Given the description of an element on the screen output the (x, y) to click on. 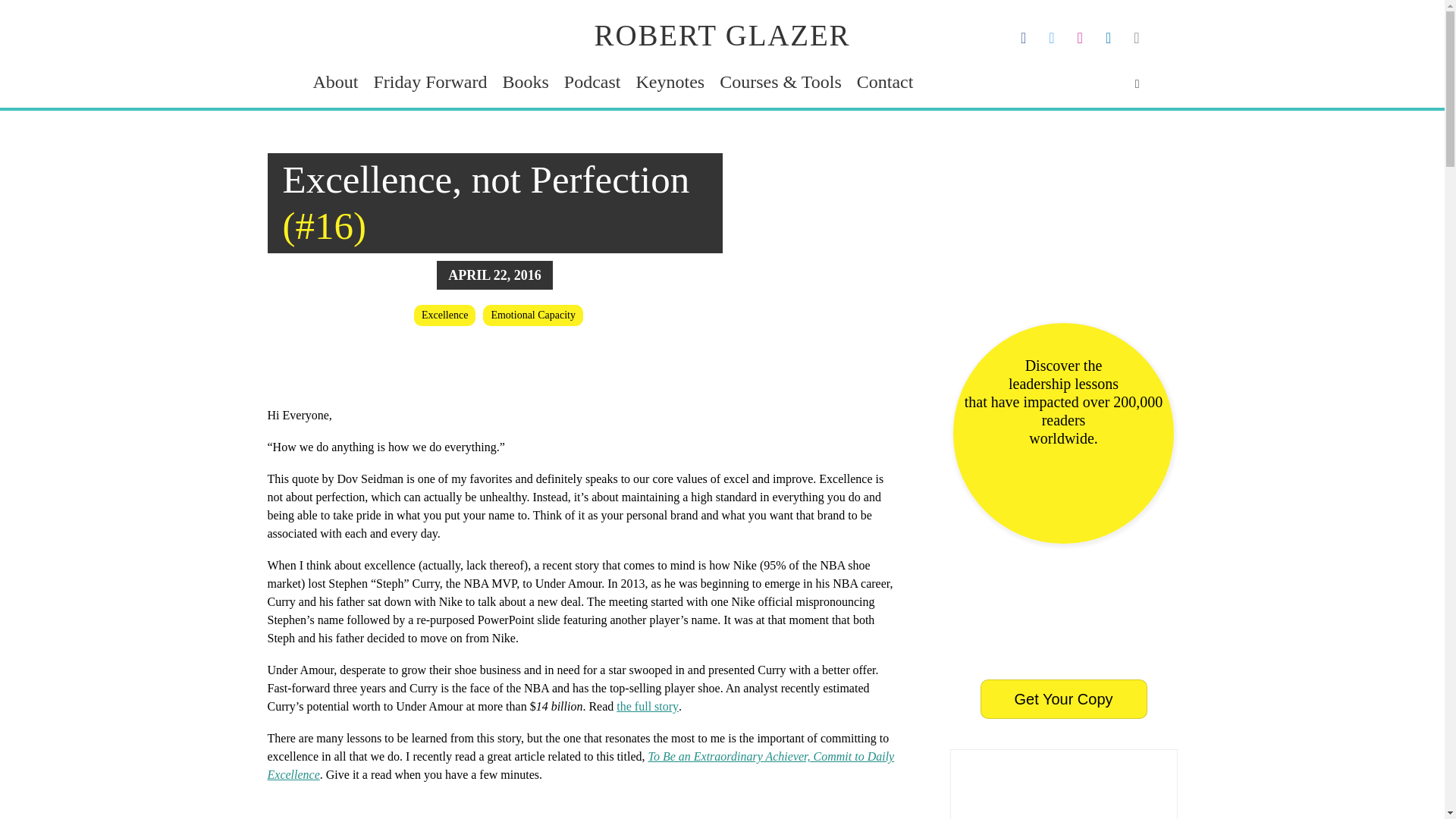
Excellence (444, 315)
Emotional Capacity (533, 315)
ROBERT GLAZER (722, 34)
Keynotes (670, 81)
Friday Forward (429, 81)
Contact (885, 81)
Search (22, 10)
Books (525, 81)
To Be an Extraordinary Achiever, Commit to Daily Excellence (579, 765)
Podcast (592, 81)
